Given the description of an element on the screen output the (x, y) to click on. 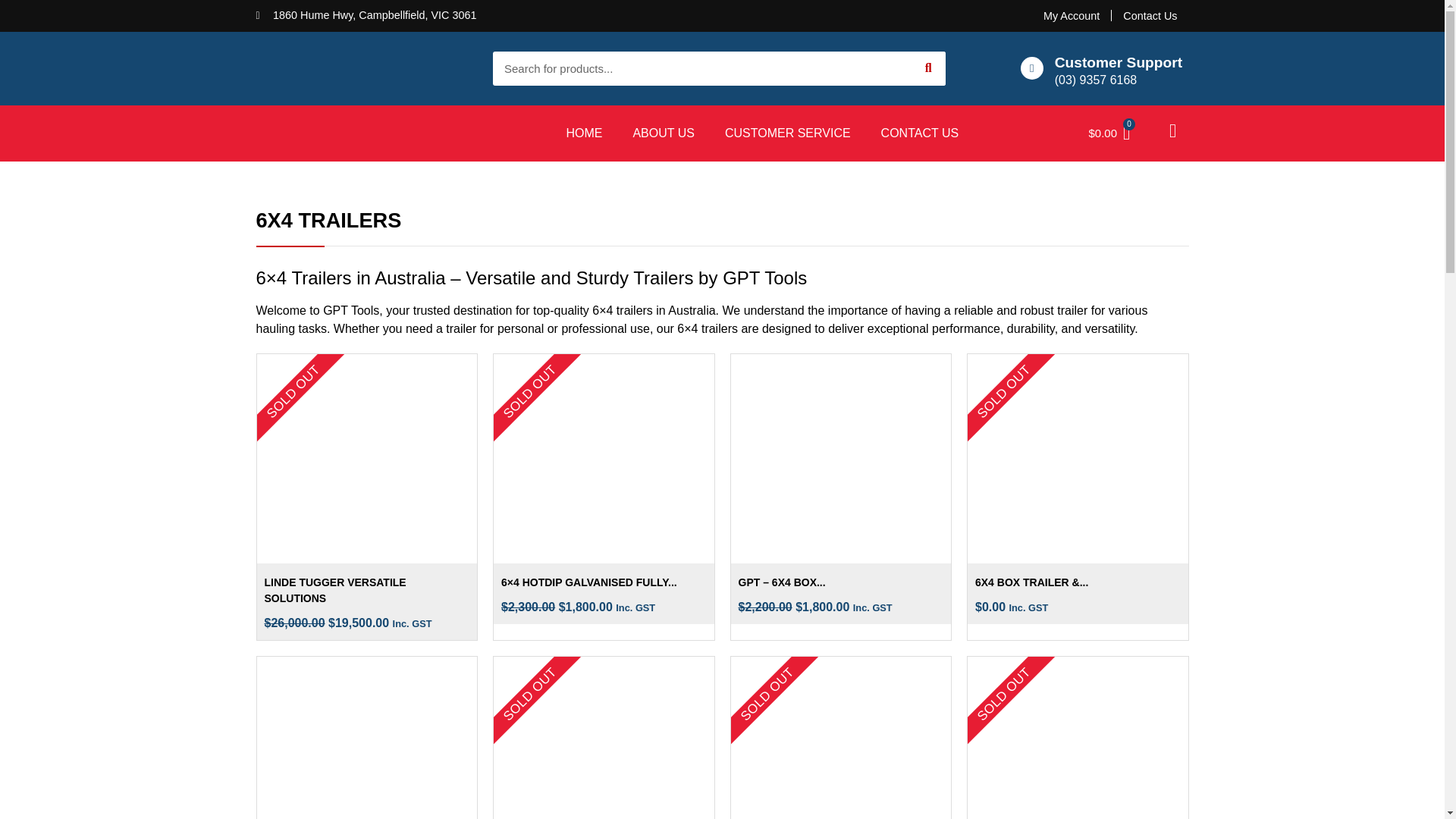
Contact Us (1150, 15)
My Account (1071, 15)
Customer Support (1118, 62)
